Given the description of an element on the screen output the (x, y) to click on. 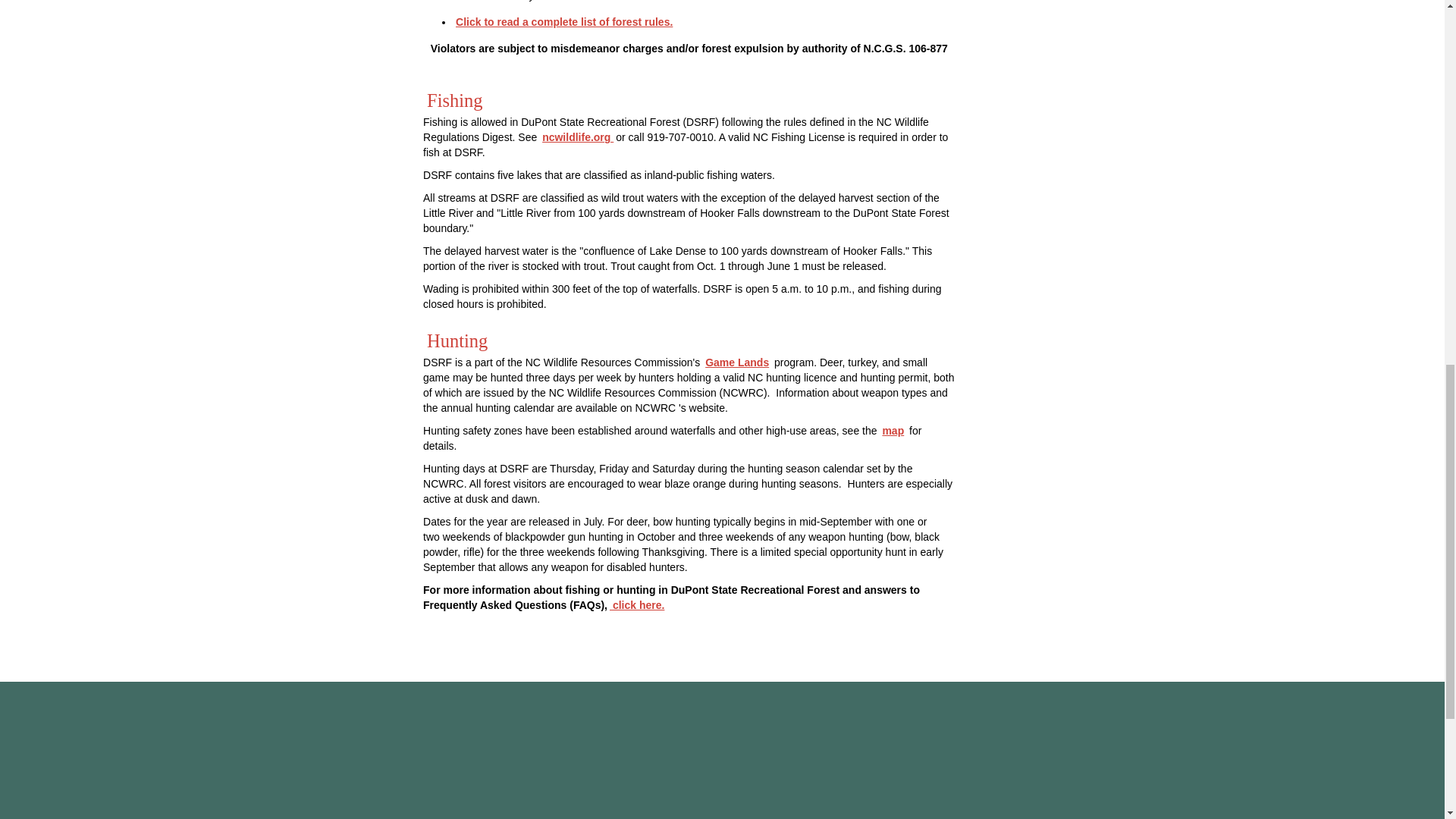
ncwildlife.org (577, 137)
Click to read a complete list of forest rules. (563, 21)
map (892, 430)
Game Lands (737, 362)
 click here. (636, 604)
